Given the description of an element on the screen output the (x, y) to click on. 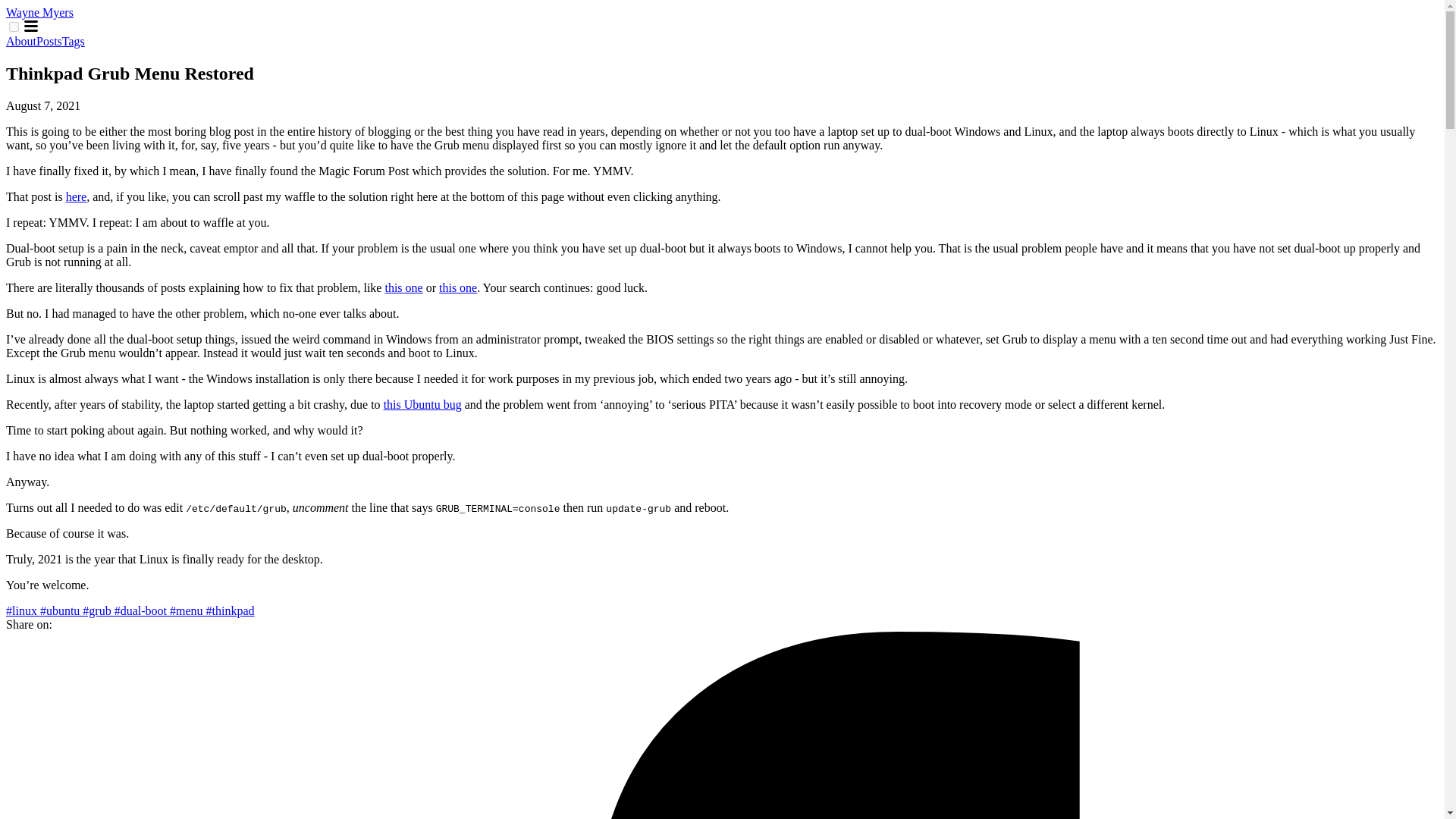
this one (403, 287)
Posts (49, 41)
on (13, 26)
Wayne Myers (39, 11)
About (20, 41)
this Ubuntu bug (422, 404)
this one (458, 287)
Tags (73, 41)
here (76, 196)
